Given the description of an element on the screen output the (x, y) to click on. 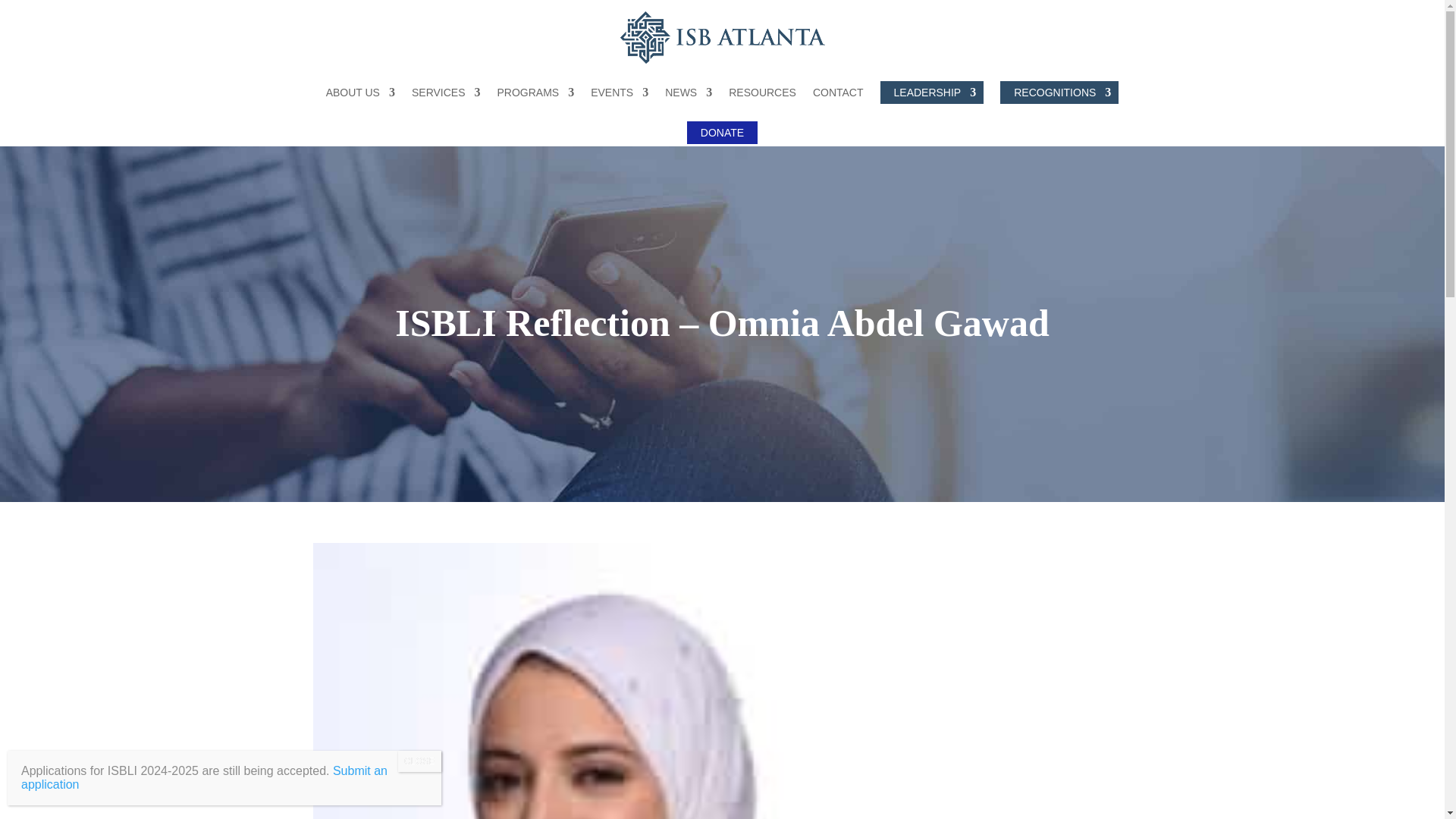
LEADERSHIP (932, 92)
DONATE (722, 132)
SERVICES (446, 92)
ABOUT US (360, 92)
PROGRAMS (536, 92)
RECOGNITIONS (1059, 92)
RESOURCES (762, 92)
EVENTS (619, 92)
